Given the description of an element on the screen output the (x, y) to click on. 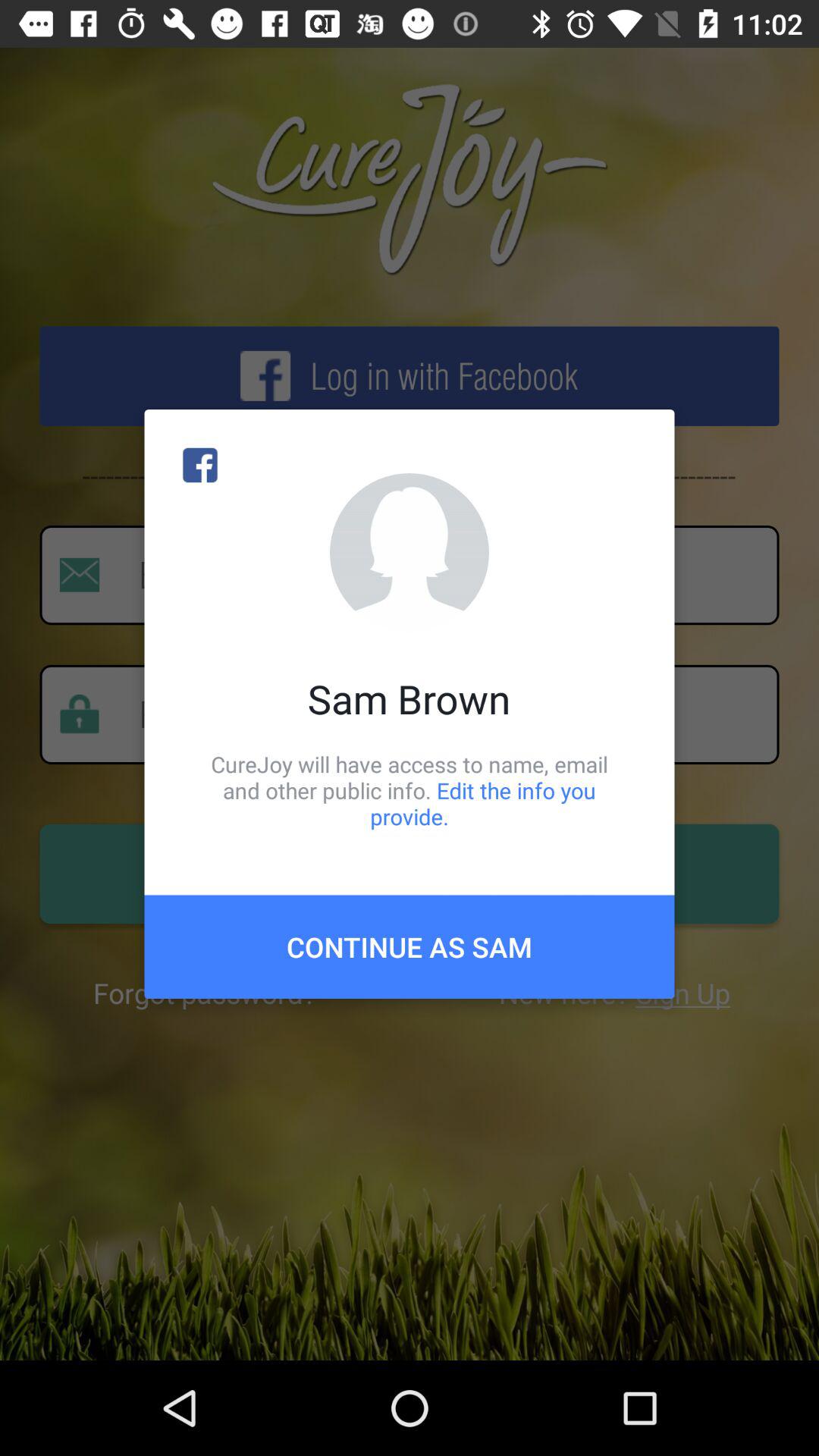
turn on icon below sam brown icon (409, 790)
